Given the description of an element on the screen output the (x, y) to click on. 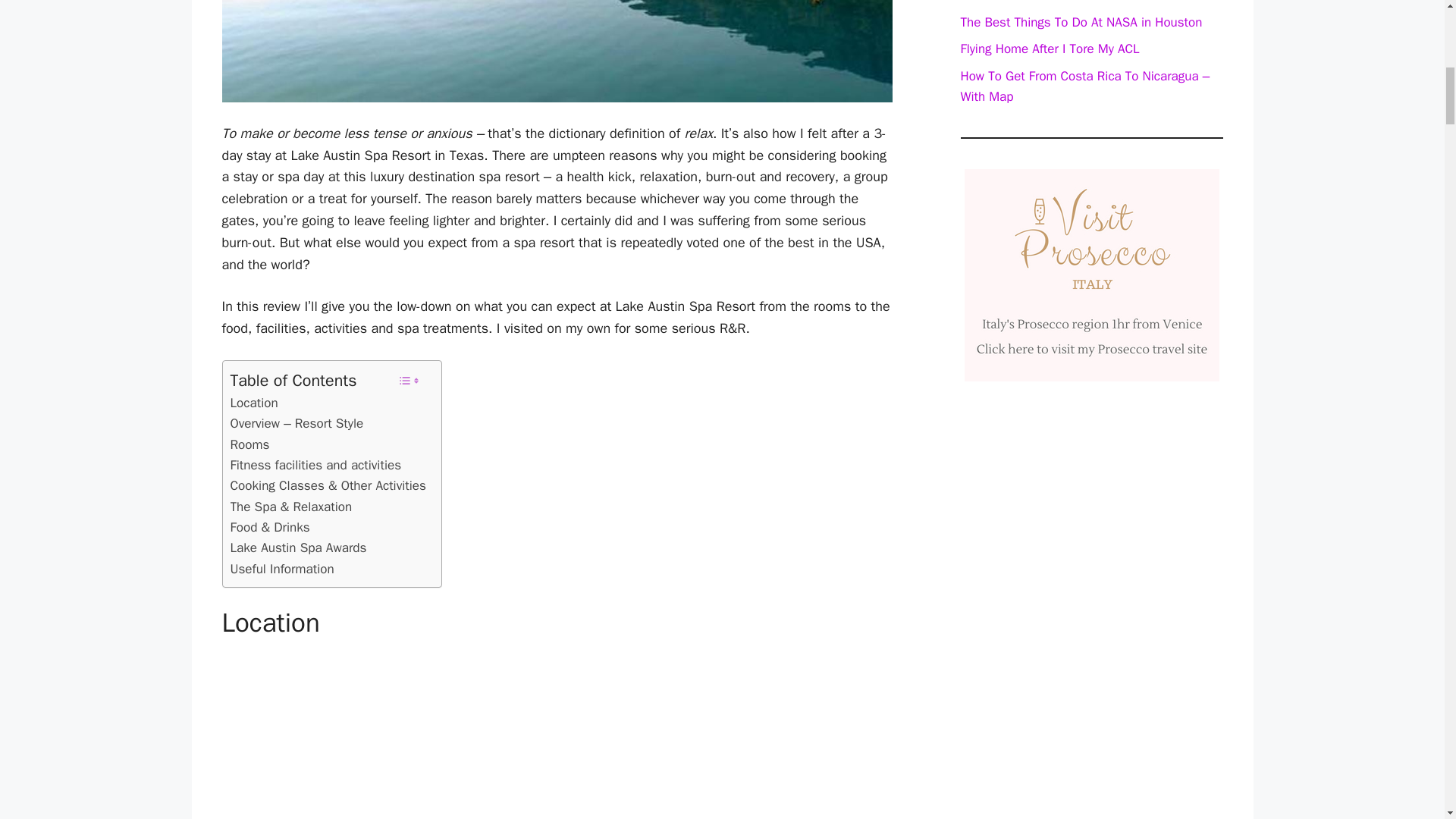
Location (254, 403)
Rooms (249, 444)
Fitness facilities and activities (315, 465)
